Given the description of an element on the screen output the (x, y) to click on. 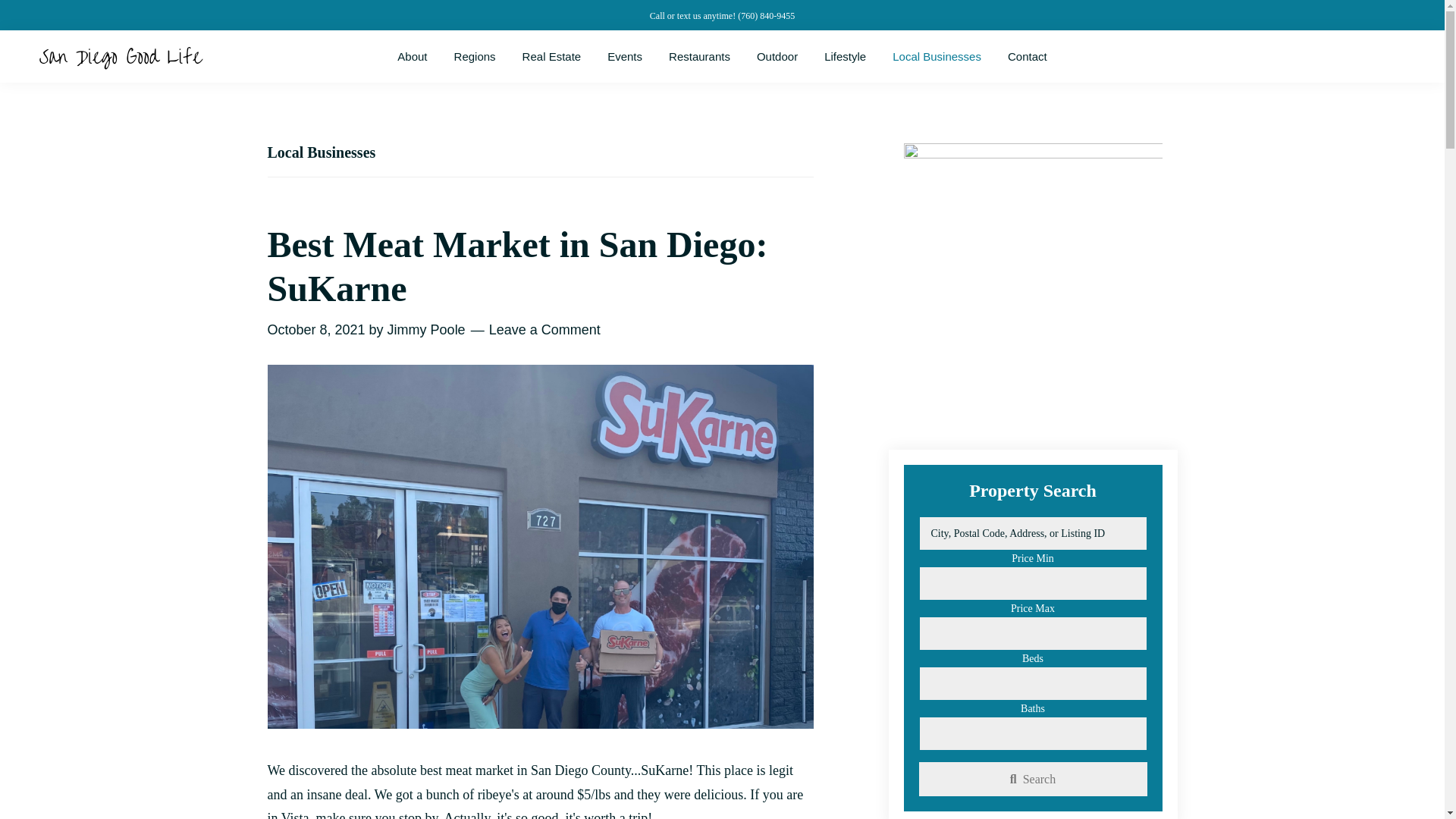
About (411, 56)
Only numbers and decimals are allowed (1032, 733)
Regions (474, 56)
